Given the description of an element on the screen output the (x, y) to click on. 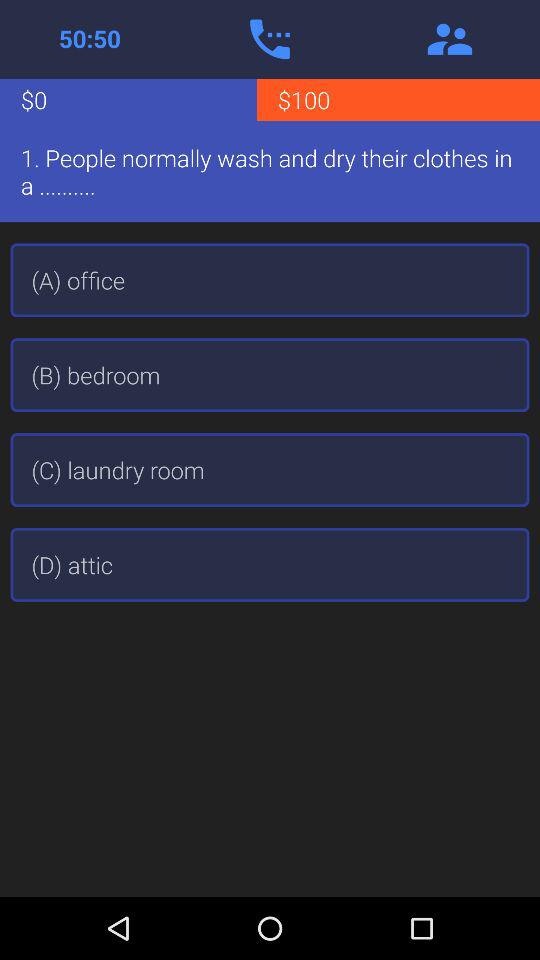
use fifty-fifty (90, 39)
